Given the description of an element on the screen output the (x, y) to click on. 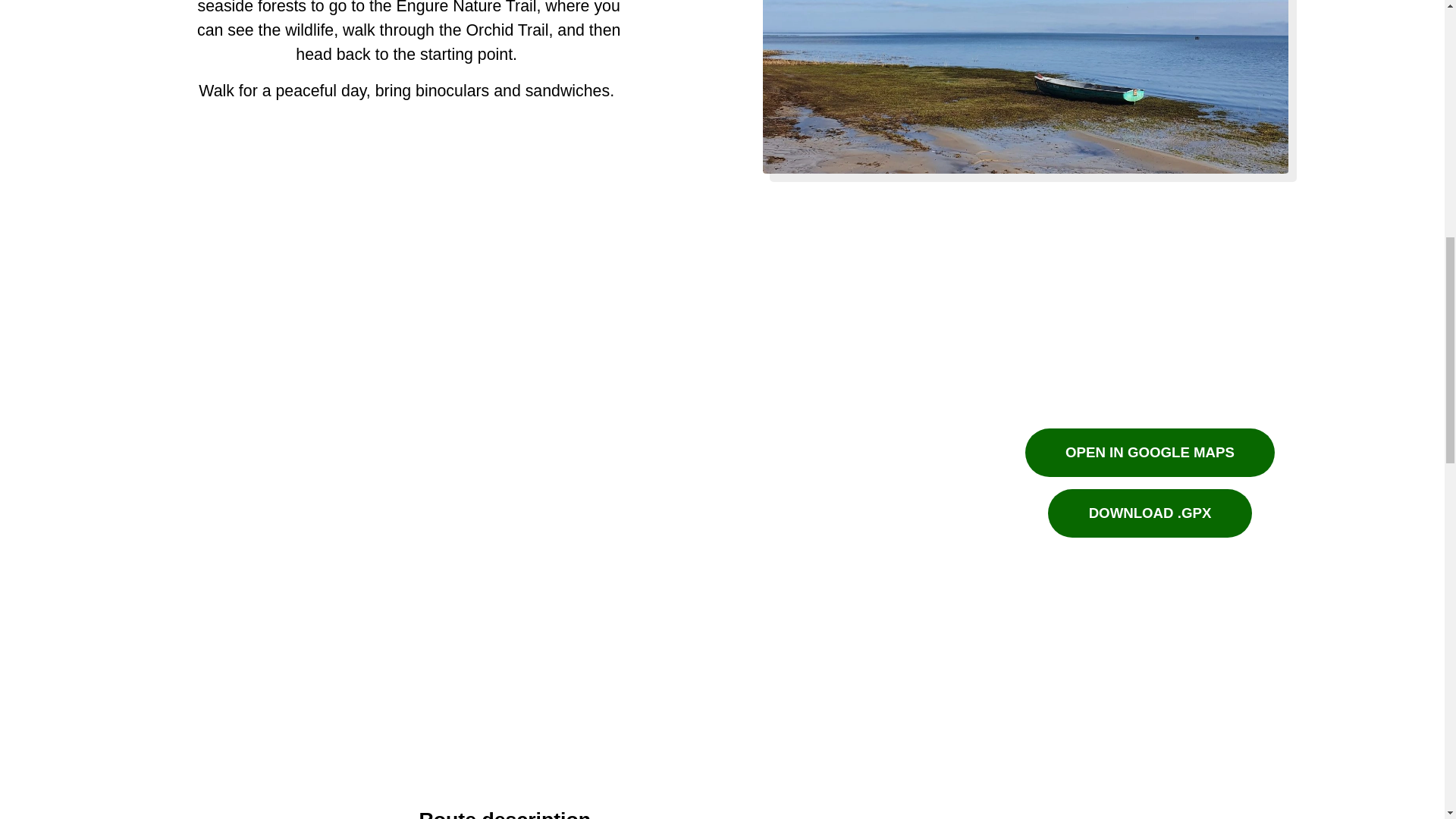
DOWNLOAD .GPX (1149, 512)
OPEN IN GOOGLE MAPS (1150, 452)
